Given the description of an element on the screen output the (x, y) to click on. 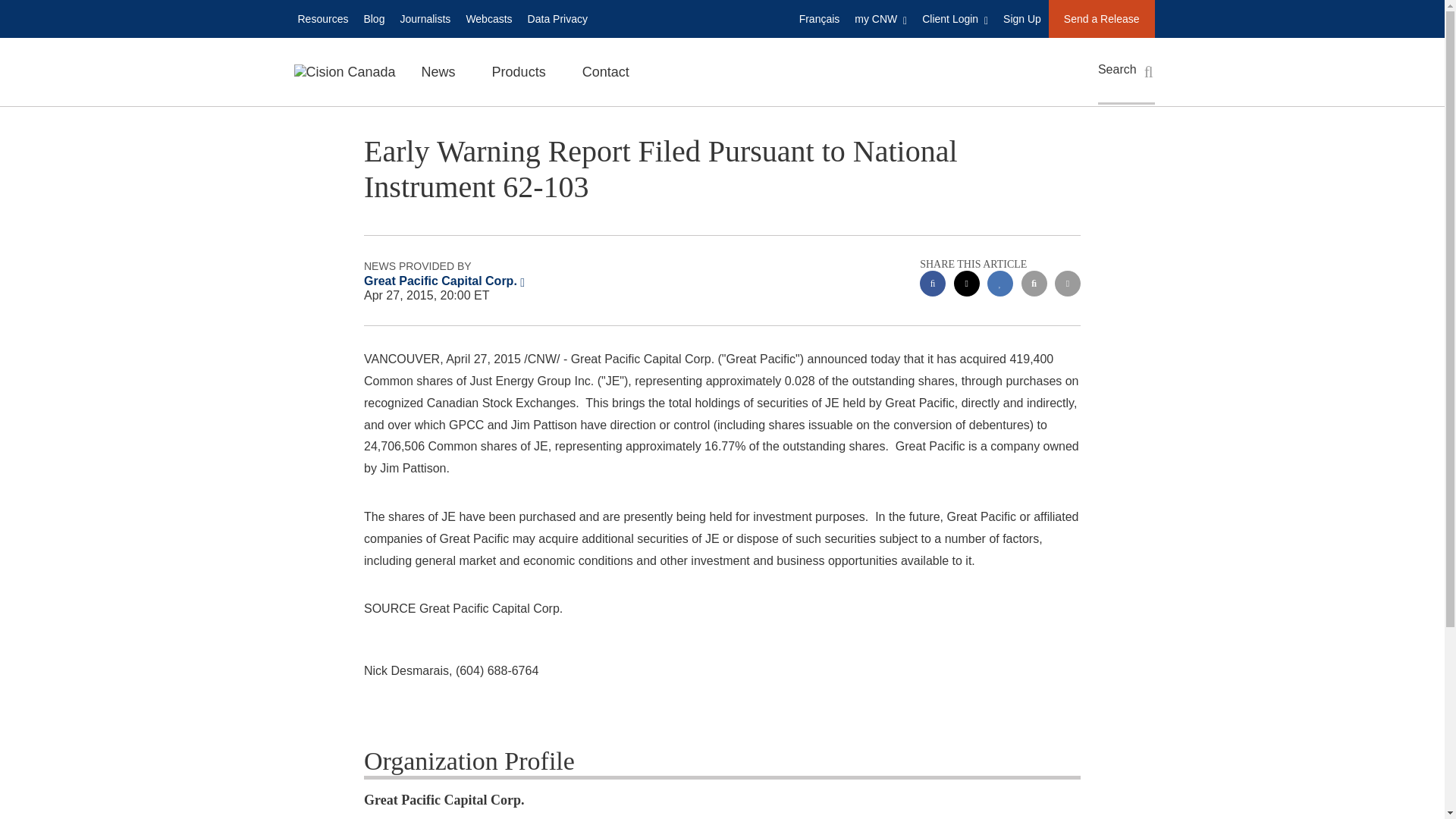
Products (519, 71)
News (438, 71)
Blog (373, 18)
Client Login  (954, 18)
Contact (605, 71)
Sign Up (1021, 18)
Webcasts (488, 18)
Data Privacy (557, 18)
Cision Canada (345, 71)
Journalists (424, 18)
